Given the description of an element on the screen output the (x, y) to click on. 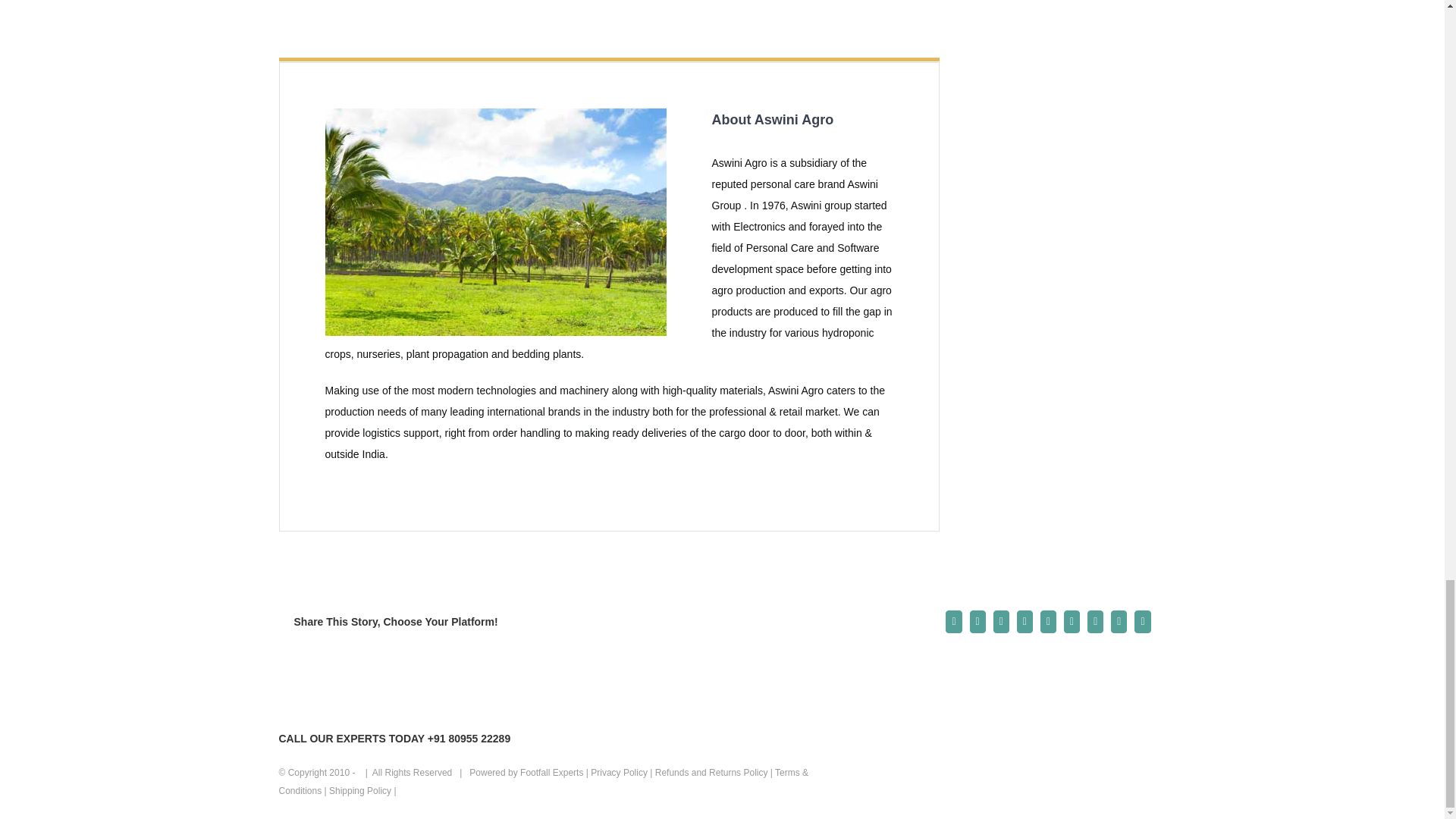
Privacy Policy (619, 772)
Footfall Experts (551, 772)
Refunds and Returns Policy (711, 772)
Shipping Policy (360, 790)
